Given the description of an element on the screen output the (x, y) to click on. 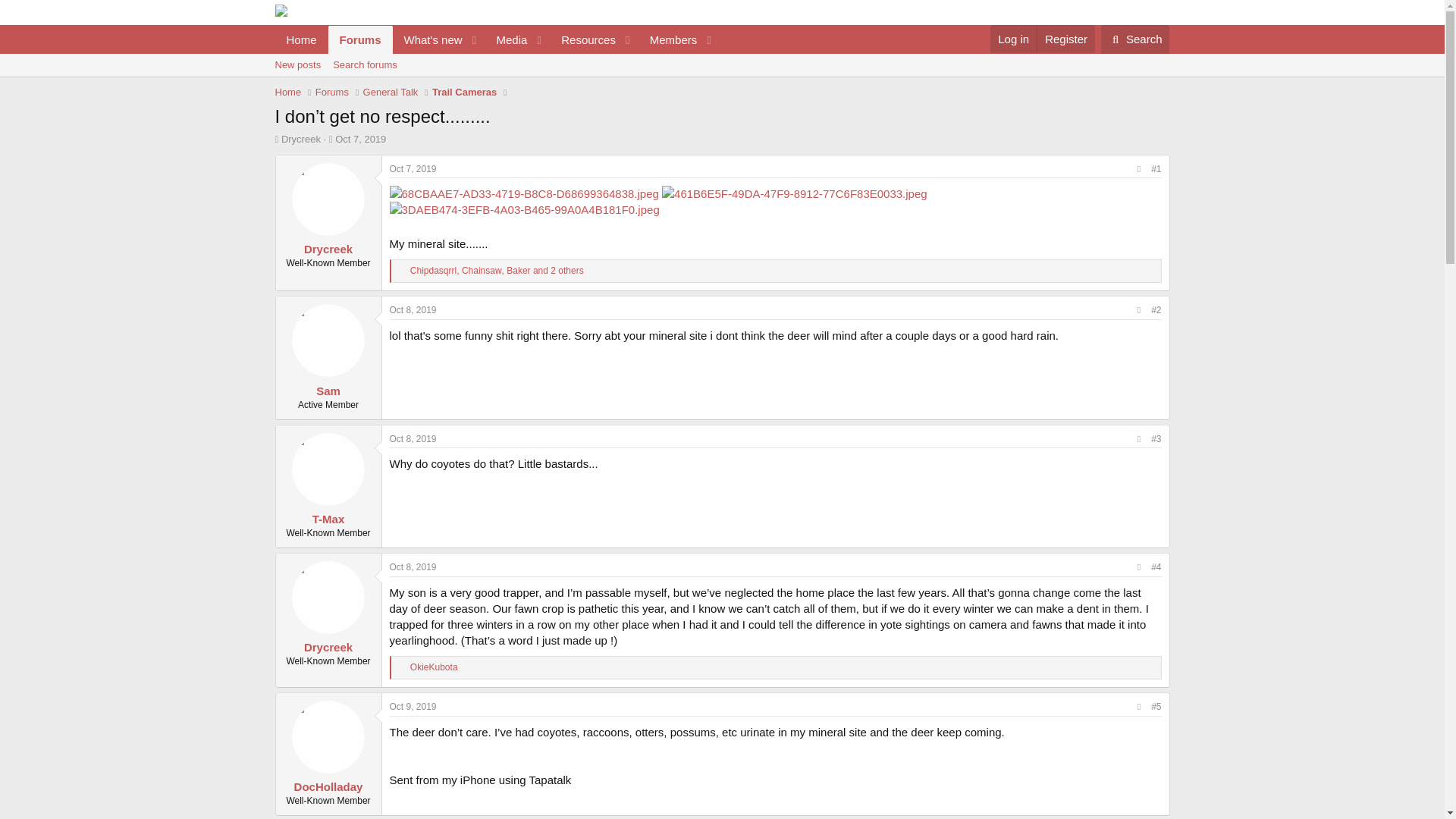
Search (1135, 39)
Log in (1013, 39)
Home (496, 39)
What's new (301, 39)
Members (428, 39)
Oct 8, 2019 at 10:34 AM (668, 39)
Oct 9, 2019 at 10:24 PM (413, 309)
Oct 8, 2019 at 8:32 PM (413, 706)
Like (413, 566)
Search (401, 271)
Search forums (1135, 39)
Resources (364, 65)
3DAEB474-3EFB-4A03-B465-99A0A4B181F0.jpeg (720, 65)
